Given the description of an element on the screen output the (x, y) to click on. 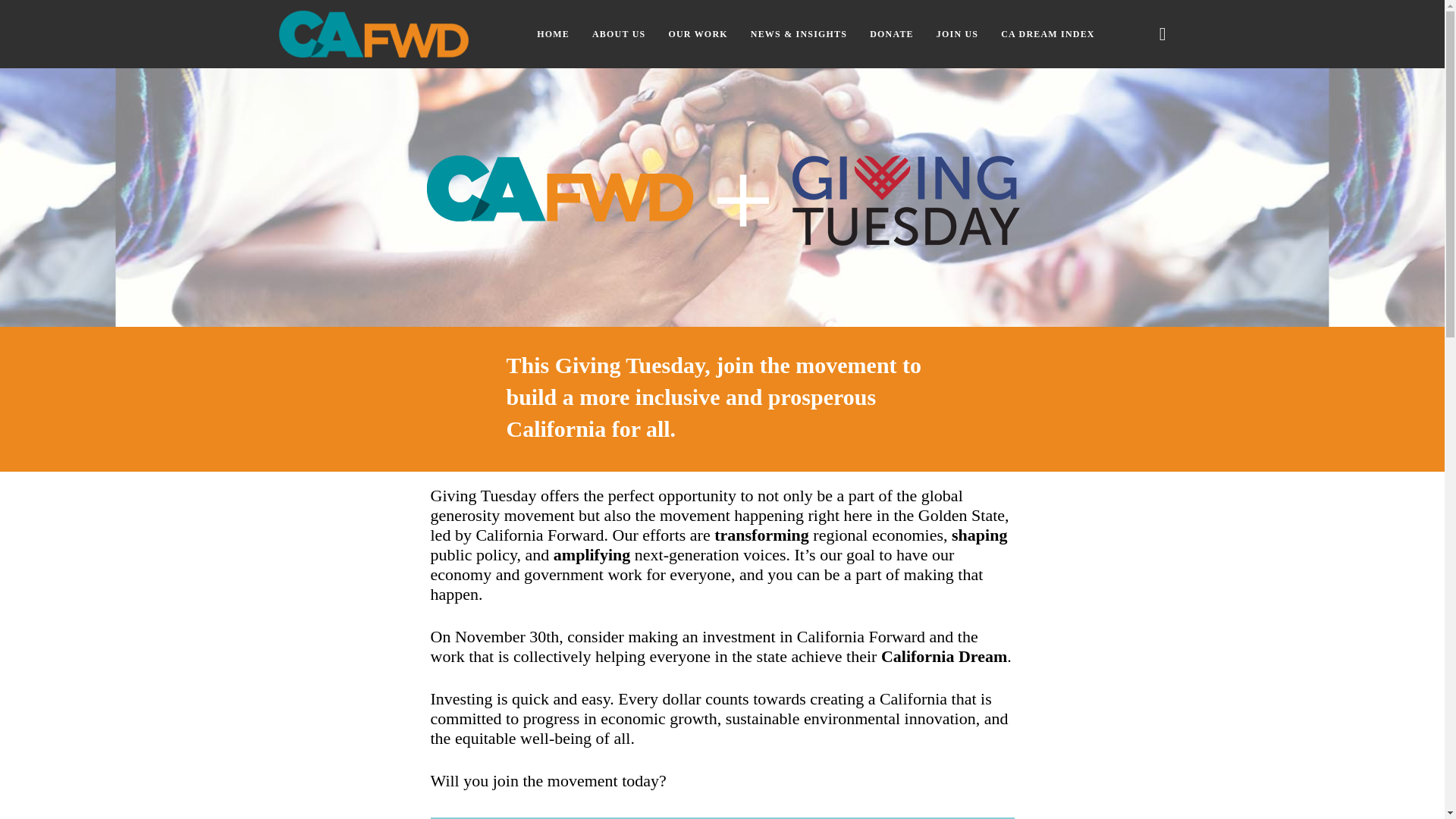
California Forward (373, 33)
